Given the description of an element on the screen output the (x, y) to click on. 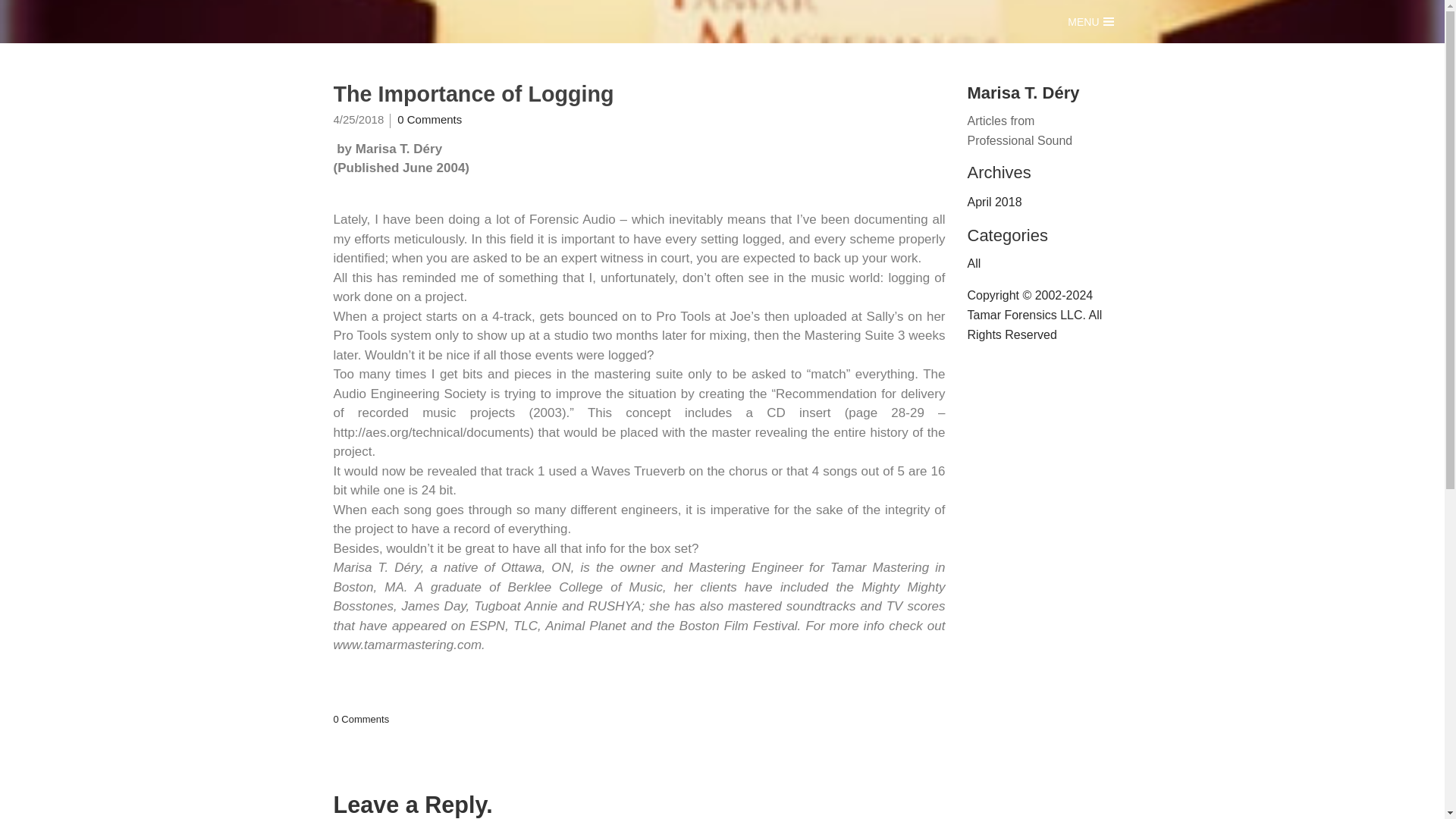
0 Comments (429, 119)
0 Comments (361, 718)
All (974, 263)
The Importance of Logging (638, 94)
April 2018 (1035, 201)
